Given the description of an element on the screen output the (x, y) to click on. 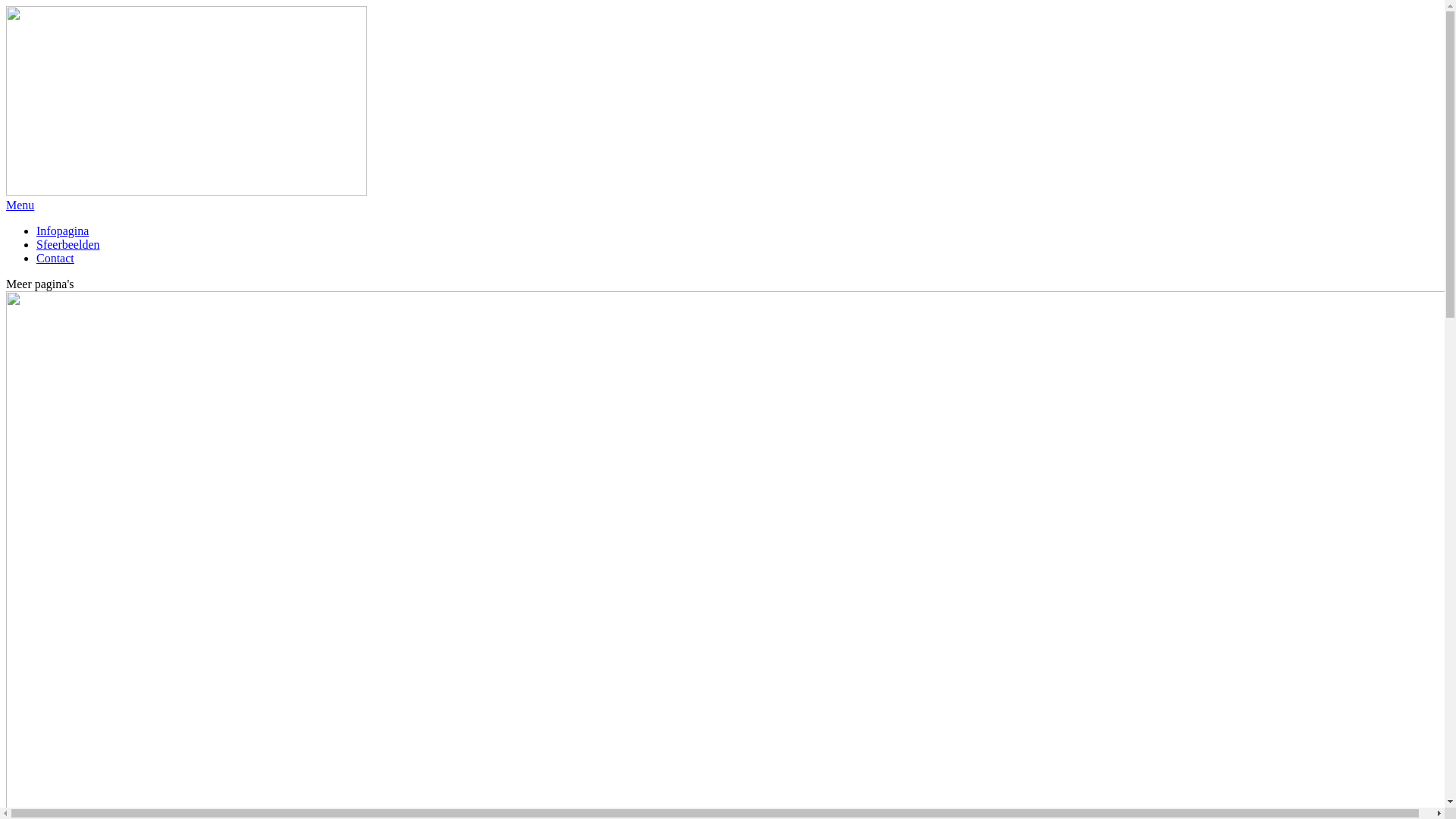
Contact Element type: text (55, 257)
Sfeerbeelden Element type: text (68, 244)
Infopagina Element type: text (62, 230)
Menu Element type: text (20, 204)
